Given the description of an element on the screen output the (x, y) to click on. 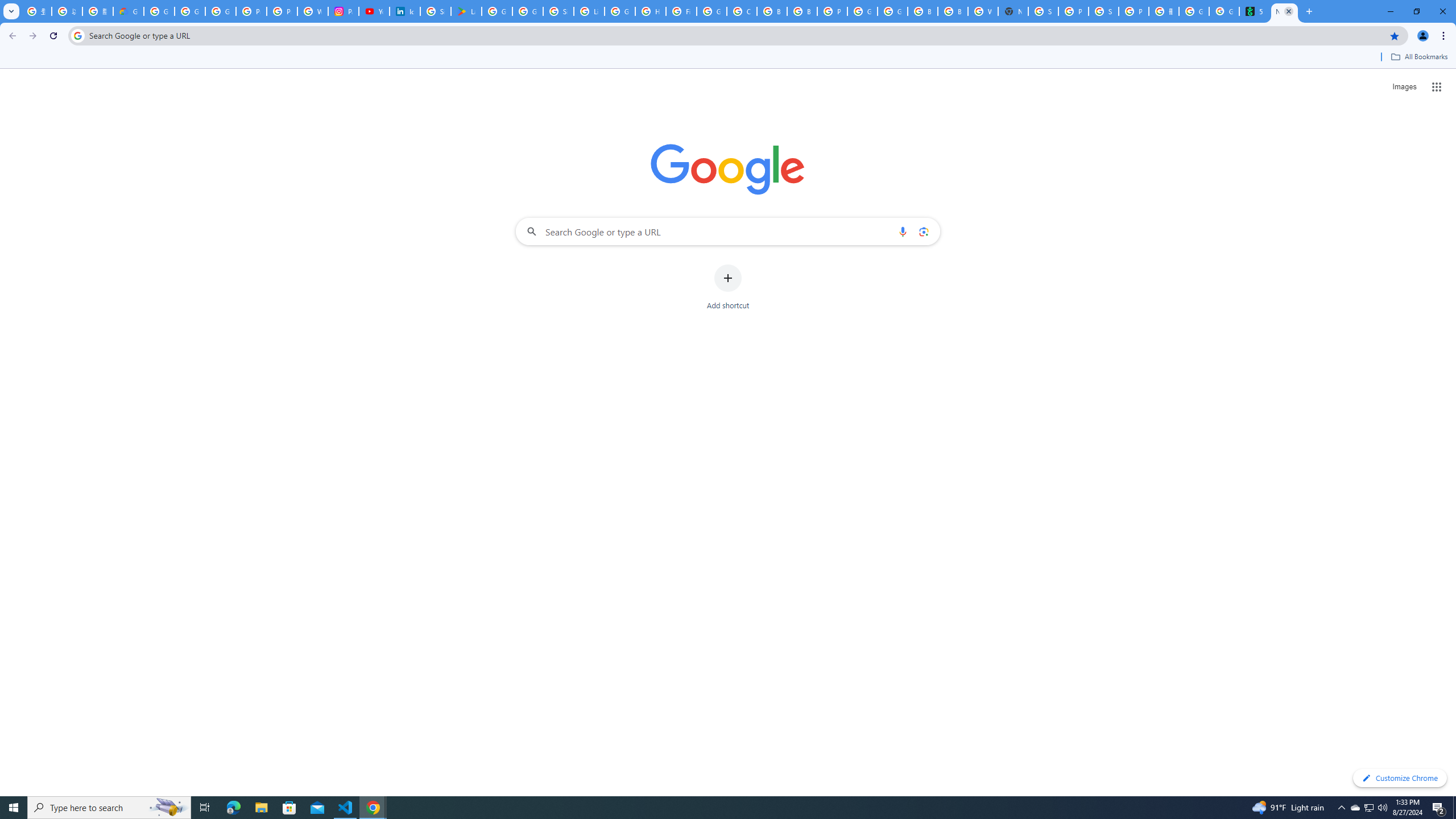
Search by image (922, 230)
Google Workspace - Specific Terms (527, 11)
Search for Images  (1403, 87)
Bookmarks (728, 58)
Browse Chrome as a guest - Computer - Google Chrome Help (771, 11)
Browse Chrome as a guest - Computer - Google Chrome Help (801, 11)
